Given the description of an element on the screen output the (x, y) to click on. 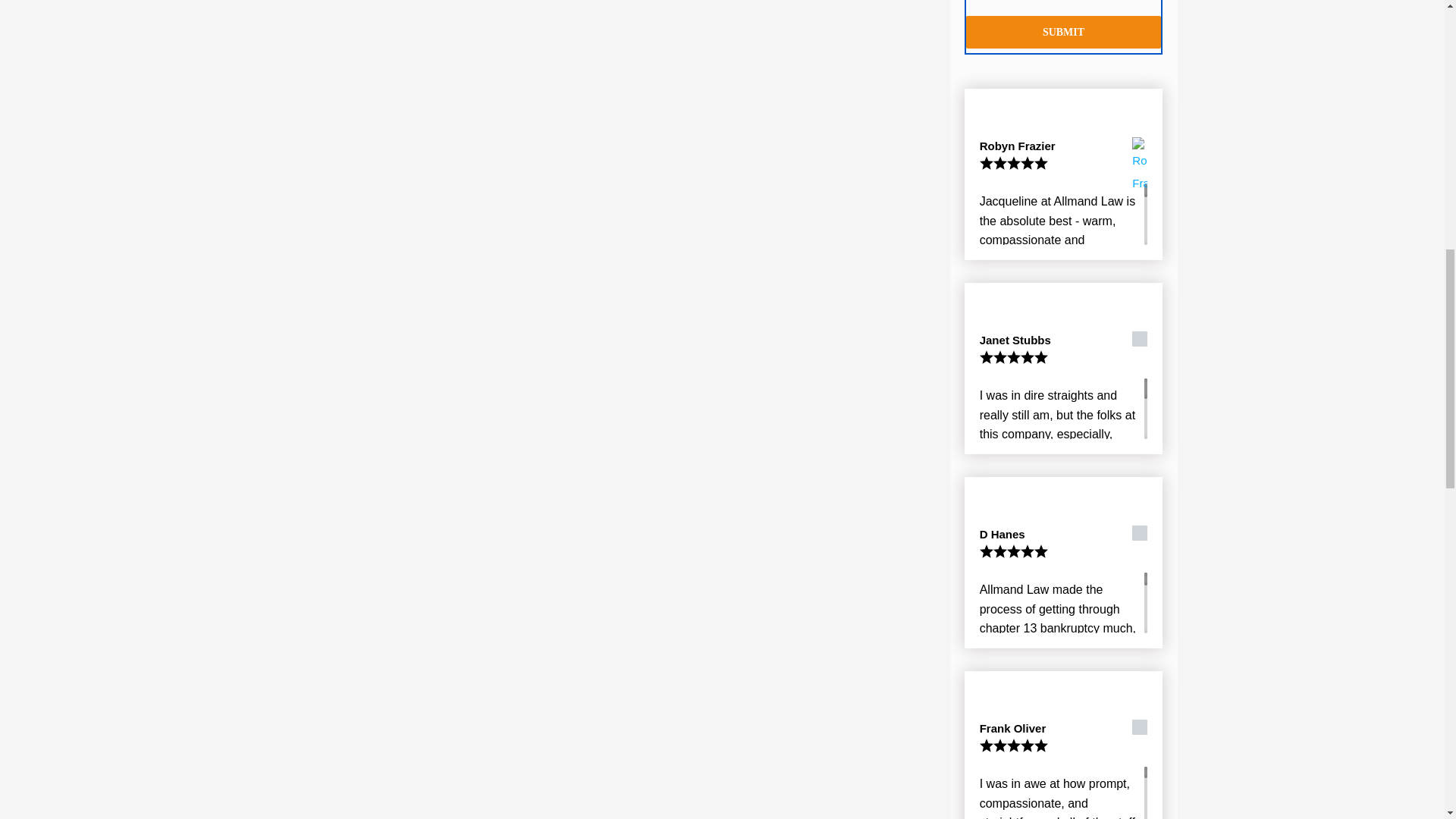
Submit (1063, 31)
